Given the description of an element on the screen output the (x, y) to click on. 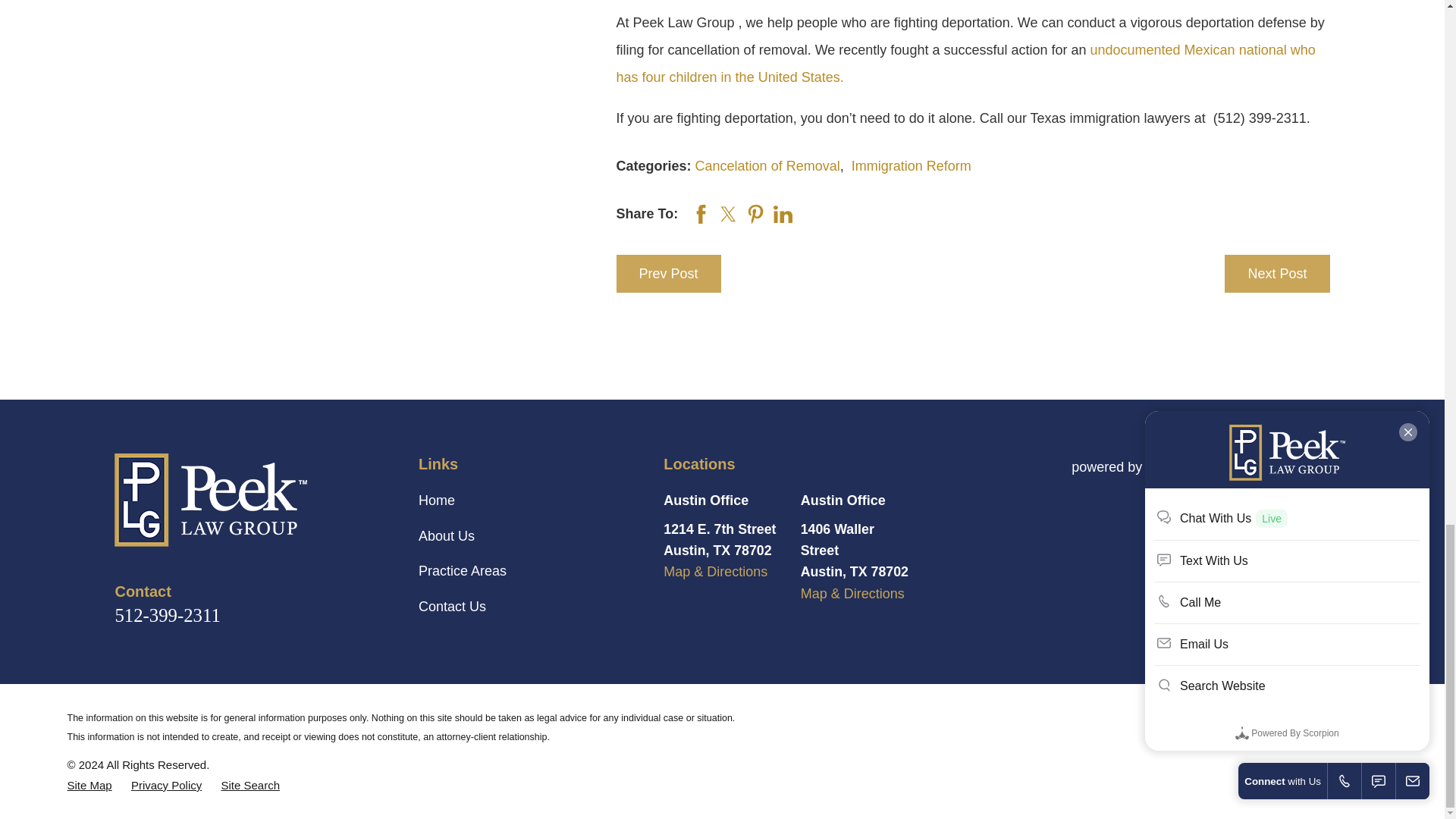
Home (249, 500)
Peek Law Group (211, 500)
